Given the description of an element on the screen output the (x, y) to click on. 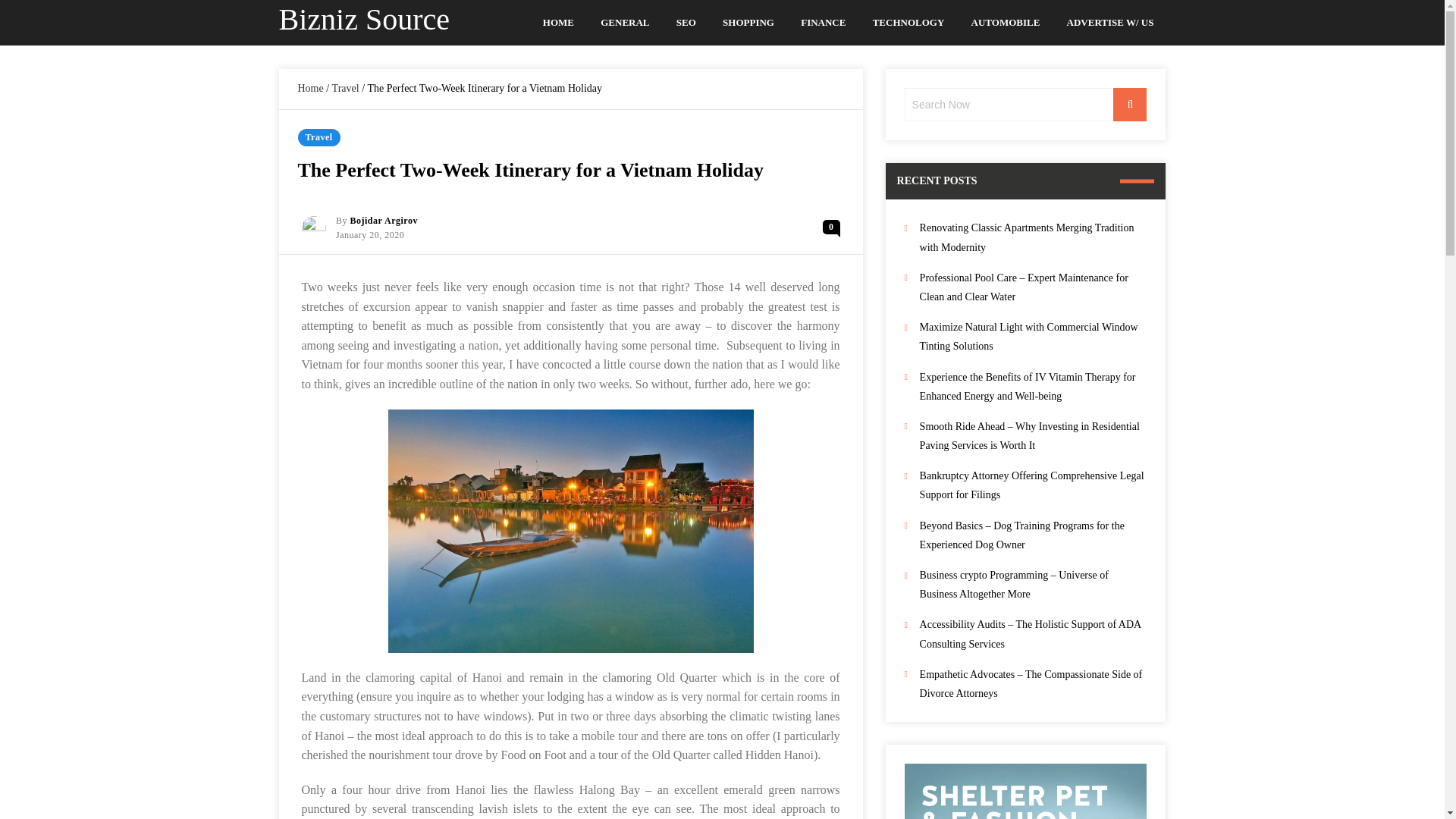
View all posts in Travel (318, 137)
Home (310, 88)
FINANCE (823, 22)
SHOPPING (748, 22)
Posts by Bojidar Argirov (383, 220)
TECHNOLOGY (908, 22)
0 (831, 227)
Bojidar Argirov (383, 220)
GENERAL (624, 22)
Travel (345, 88)
